Given the description of an element on the screen output the (x, y) to click on. 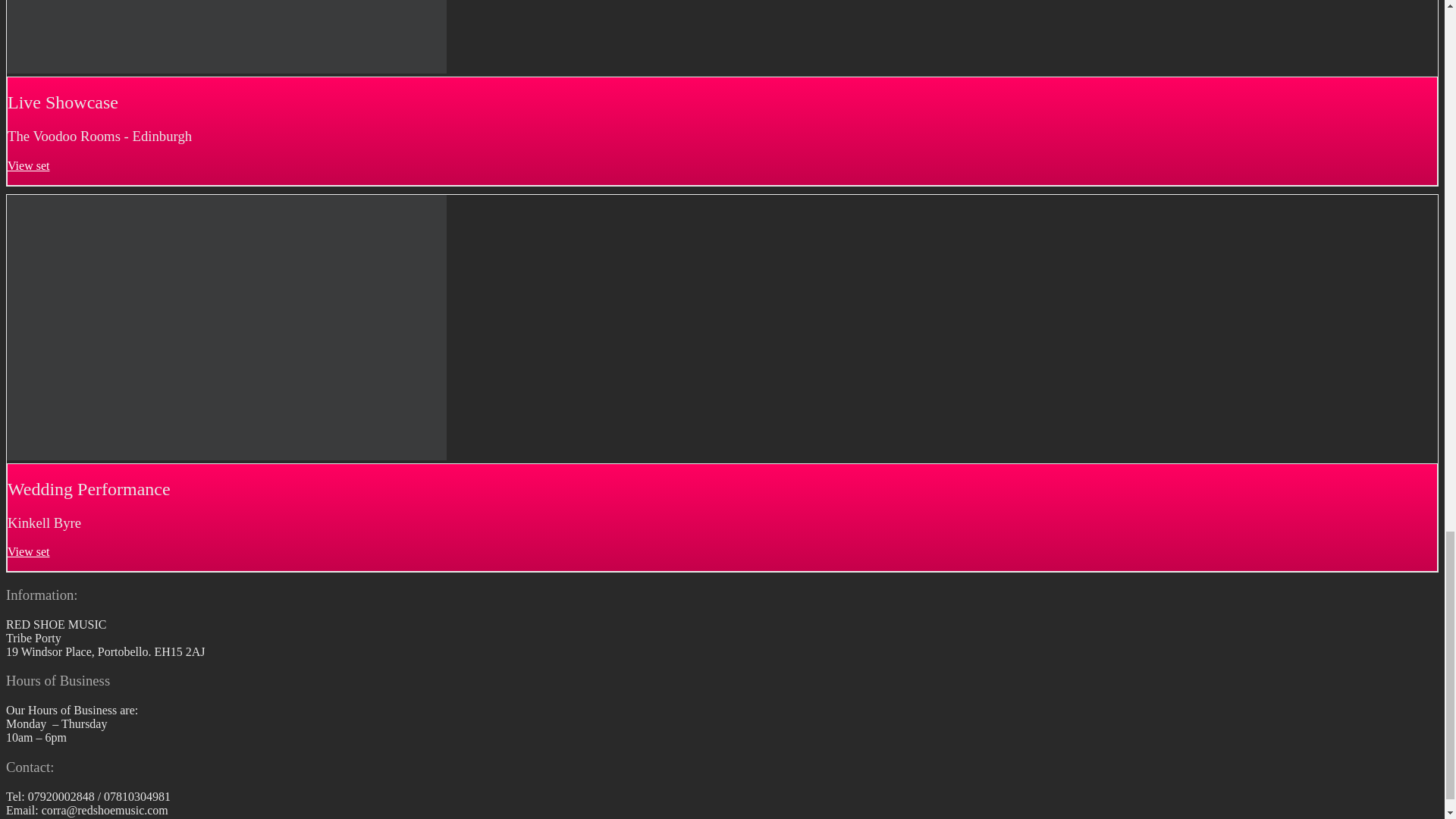
View set (28, 551)
View set (28, 164)
